Given the description of an element on the screen output the (x, y) to click on. 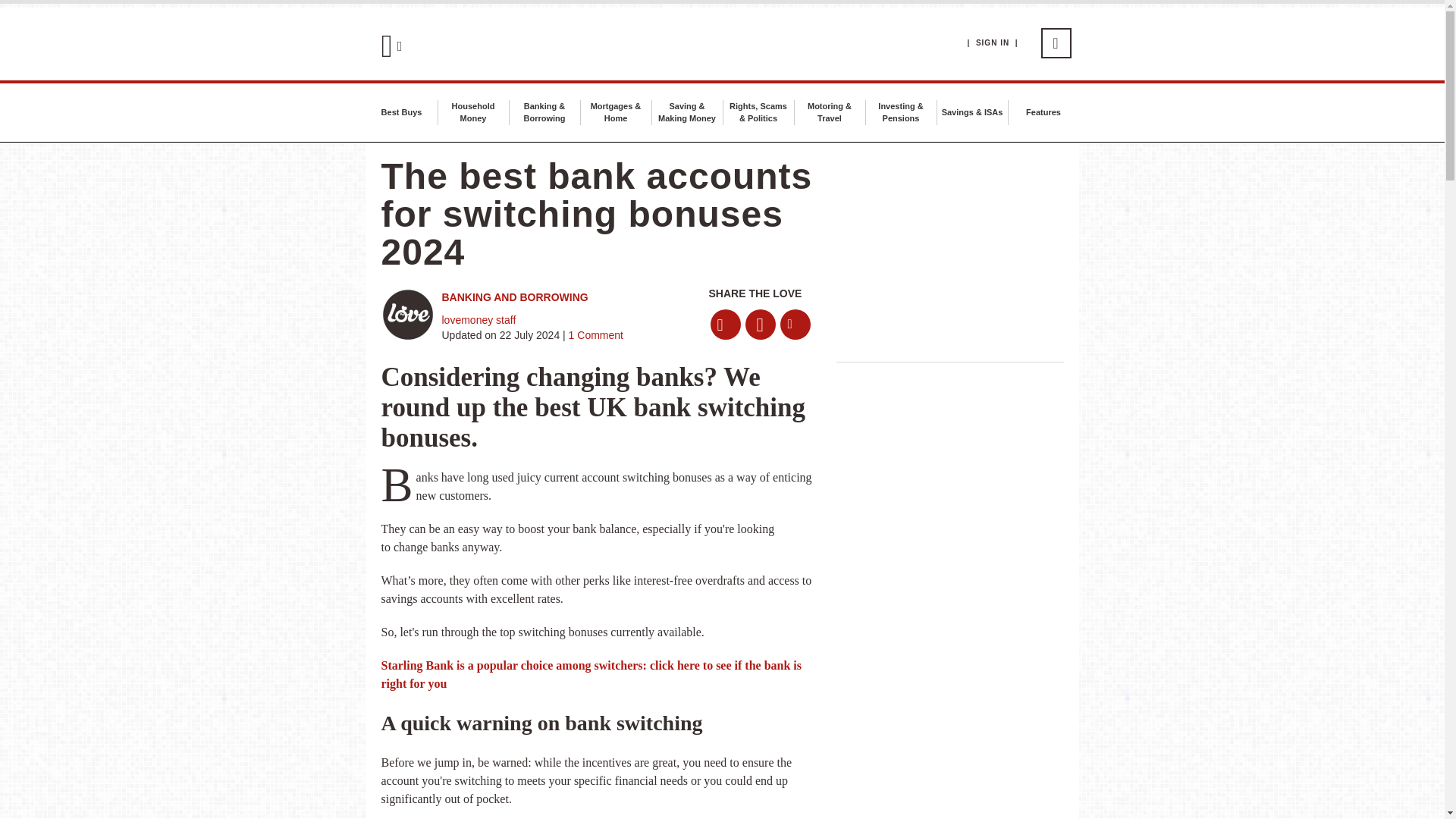
Best Buys (401, 111)
lovemoney staff (478, 319)
Household Money (472, 111)
1 Comment (594, 335)
Features (1043, 111)
BANKING AND BORROWING (514, 297)
